Given the description of an element on the screen output the (x, y) to click on. 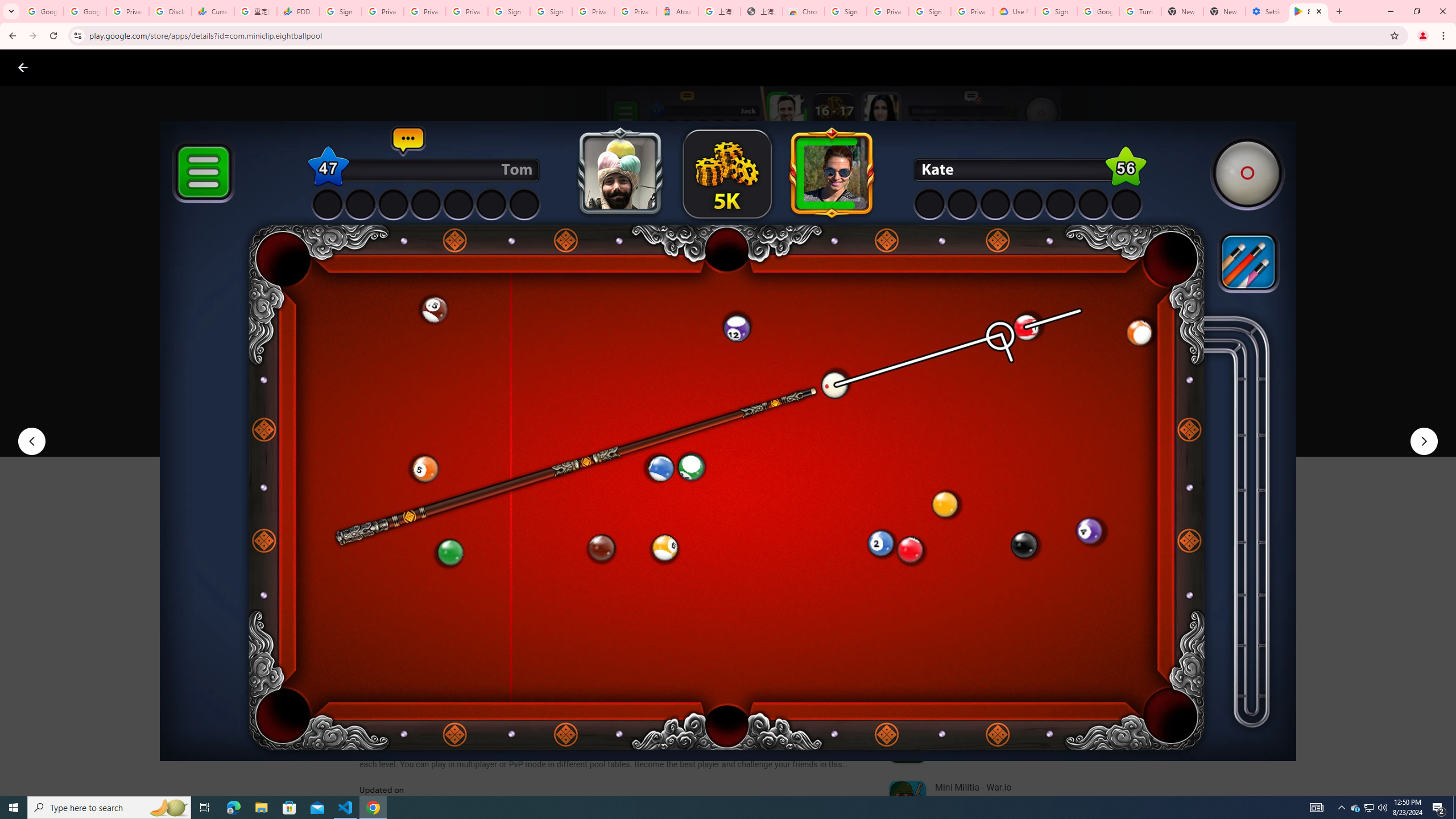
Next (1424, 441)
Screenshot image (817, 563)
Privacy Checkup (467, 11)
More info about this content rating (575, 385)
New Tab (1224, 11)
Scroll Next (848, 563)
Games (141, 67)
Google Play logo (64, 67)
Atour Hotel - Google hotels (676, 11)
